Given the description of an element on the screen output the (x, y) to click on. 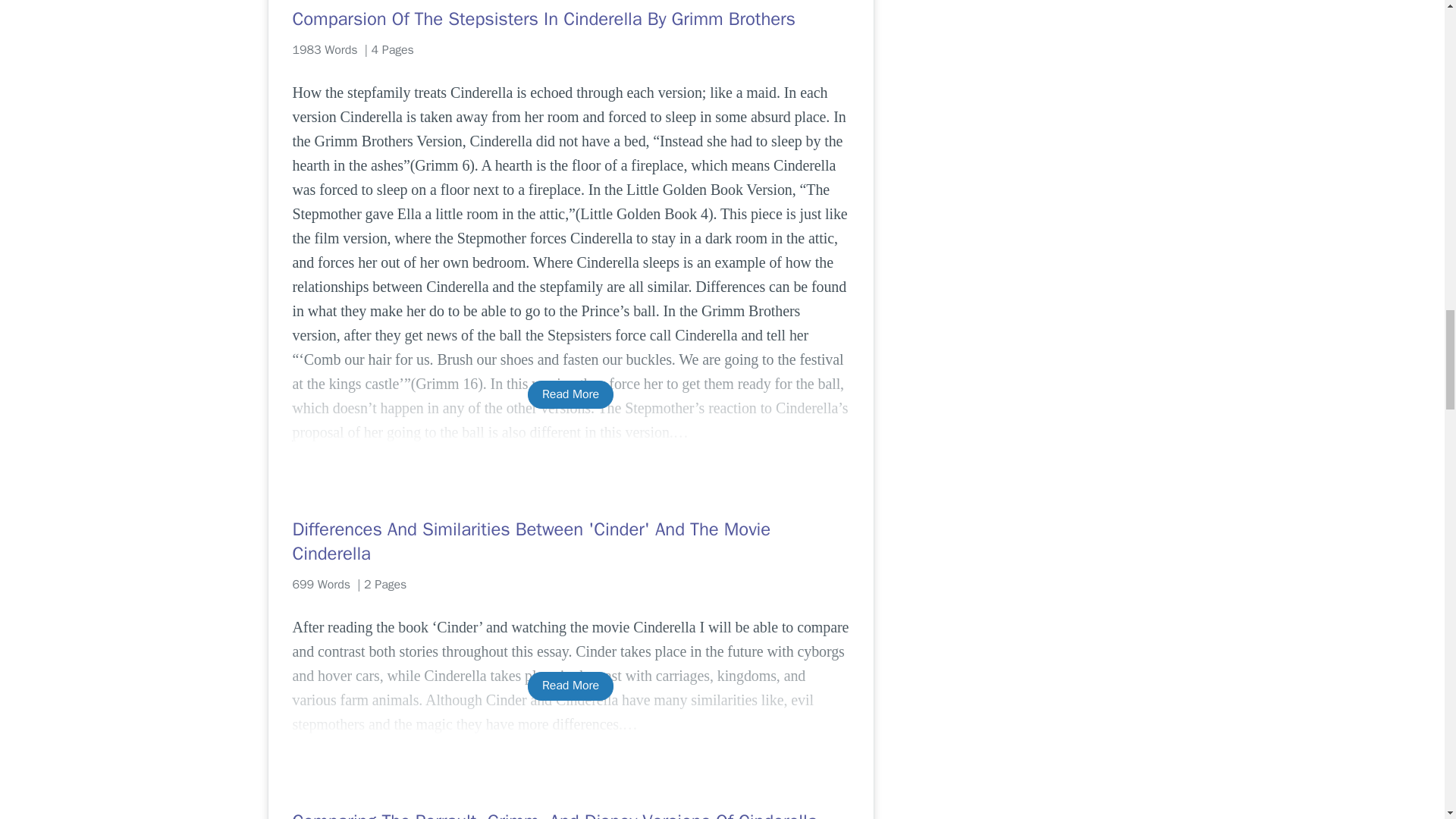
Read More (569, 685)
Read More (569, 394)
